Given the description of an element on the screen output the (x, y) to click on. 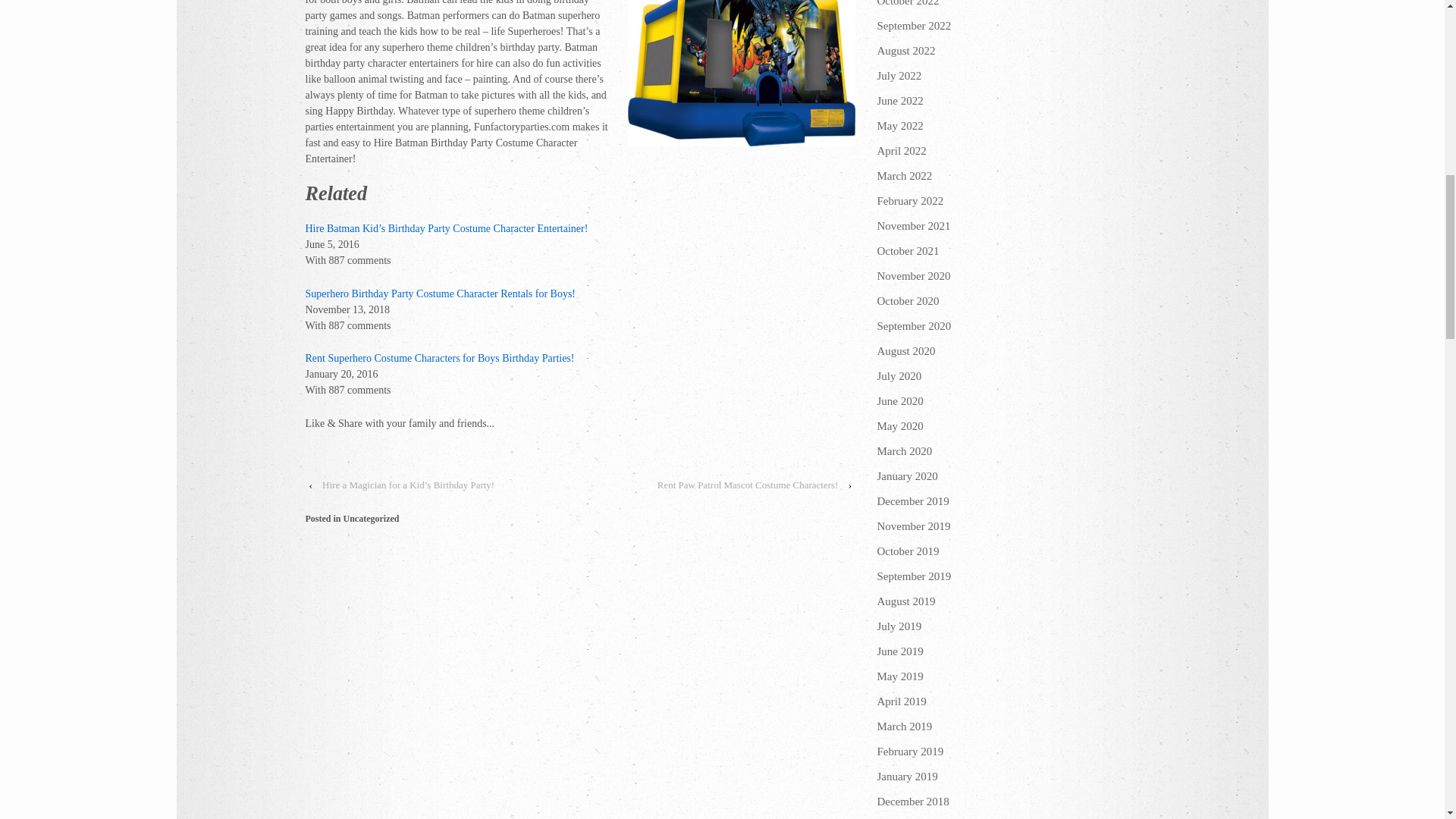
Rent Superhero Costume Characters for Boys Birthday Parties! (438, 357)
Superhero Birthday Party Costume Character Rentals for Boys! (439, 293)
Rent Superhero Costume Characters for Boys Birthday Parties! (438, 357)
Superhero Birthday Party Costume Character Rentals for Boys! (439, 293)
